Given the description of an element on the screen output the (x, y) to click on. 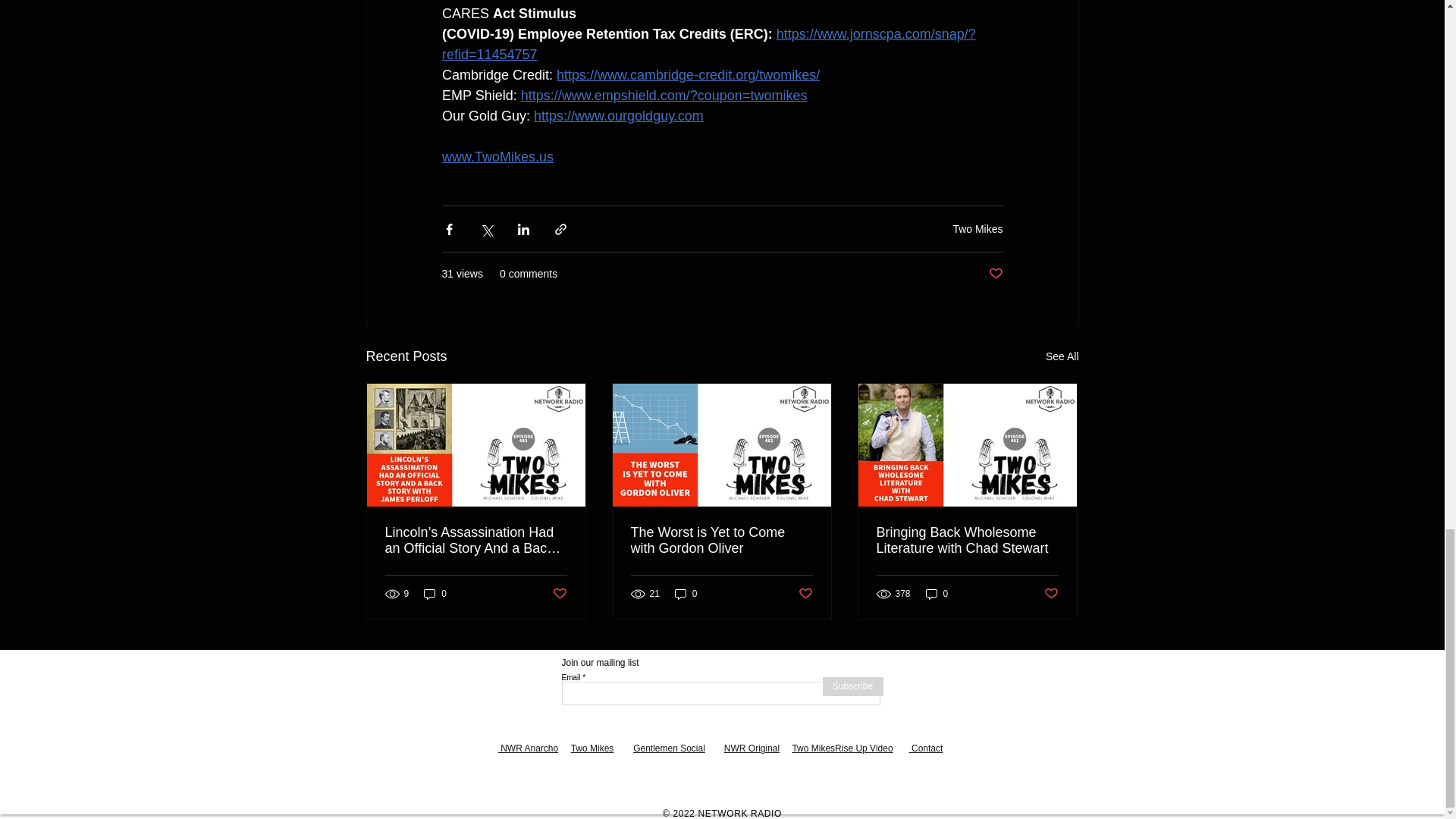
www.TwoMikes.us (497, 156)
Post not marked as liked (558, 593)
See All (1061, 356)
Post not marked as liked (804, 593)
Gentlemen Social (668, 747)
Two Mikes (977, 228)
0 (937, 594)
Two Mikes (592, 747)
Two MikesRise Up Video (842, 747)
NWR Original (750, 747)
The Worst is Yet to Come with Gordon Oliver (721, 540)
0 (435, 594)
Bringing Back Wholesome Literature with Chad Stewart (967, 540)
0 (685, 594)
Post not marked as liked (1050, 593)
